Given the description of an element on the screen output the (x, y) to click on. 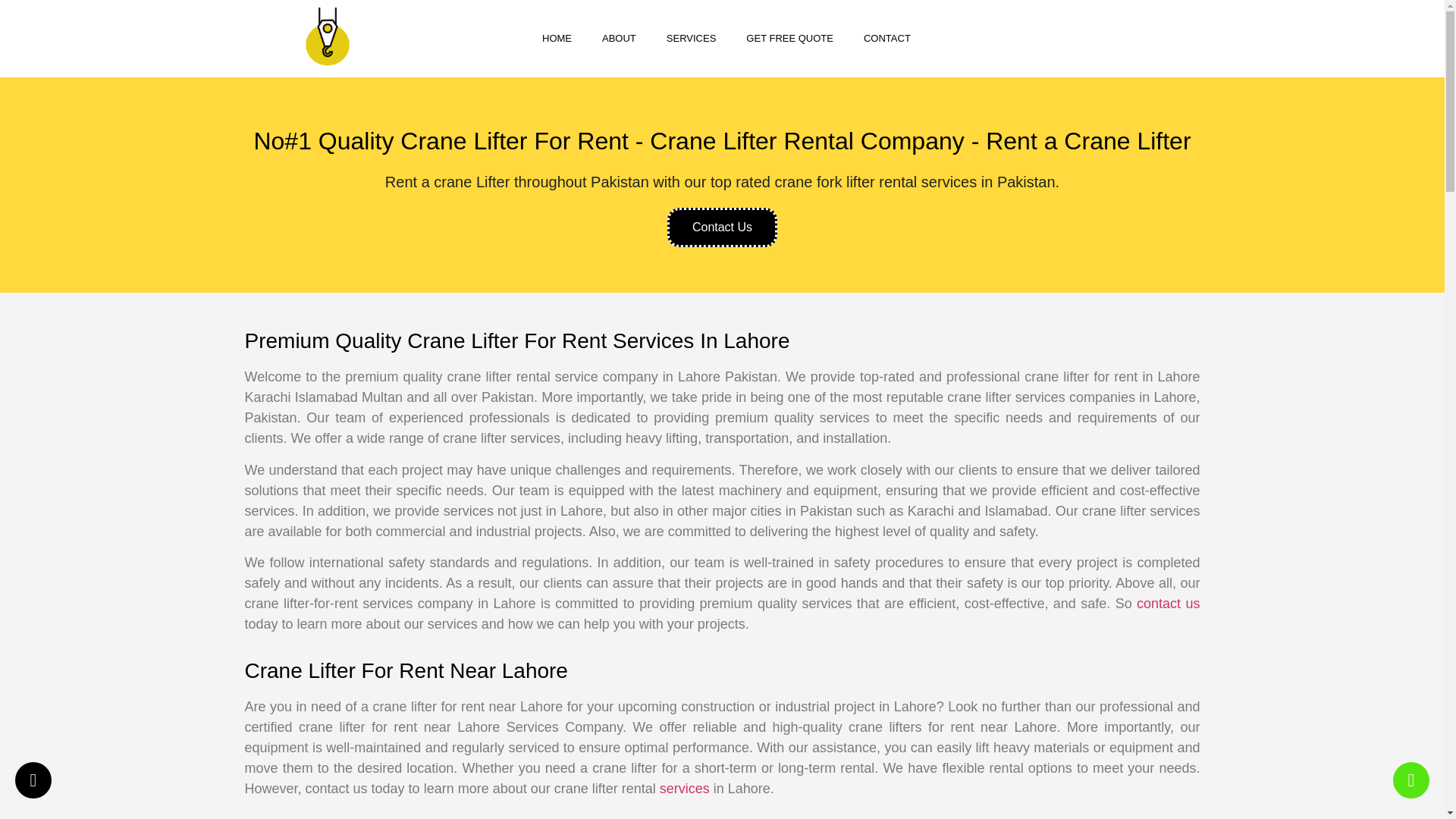
services (684, 788)
SERVICES (691, 38)
GET FREE QUOTE (789, 38)
ABOUT (618, 38)
Contact Us (721, 227)
CONTACT (887, 38)
HOME (556, 38)
contact us (1168, 603)
